Given the description of an element on the screen output the (x, y) to click on. 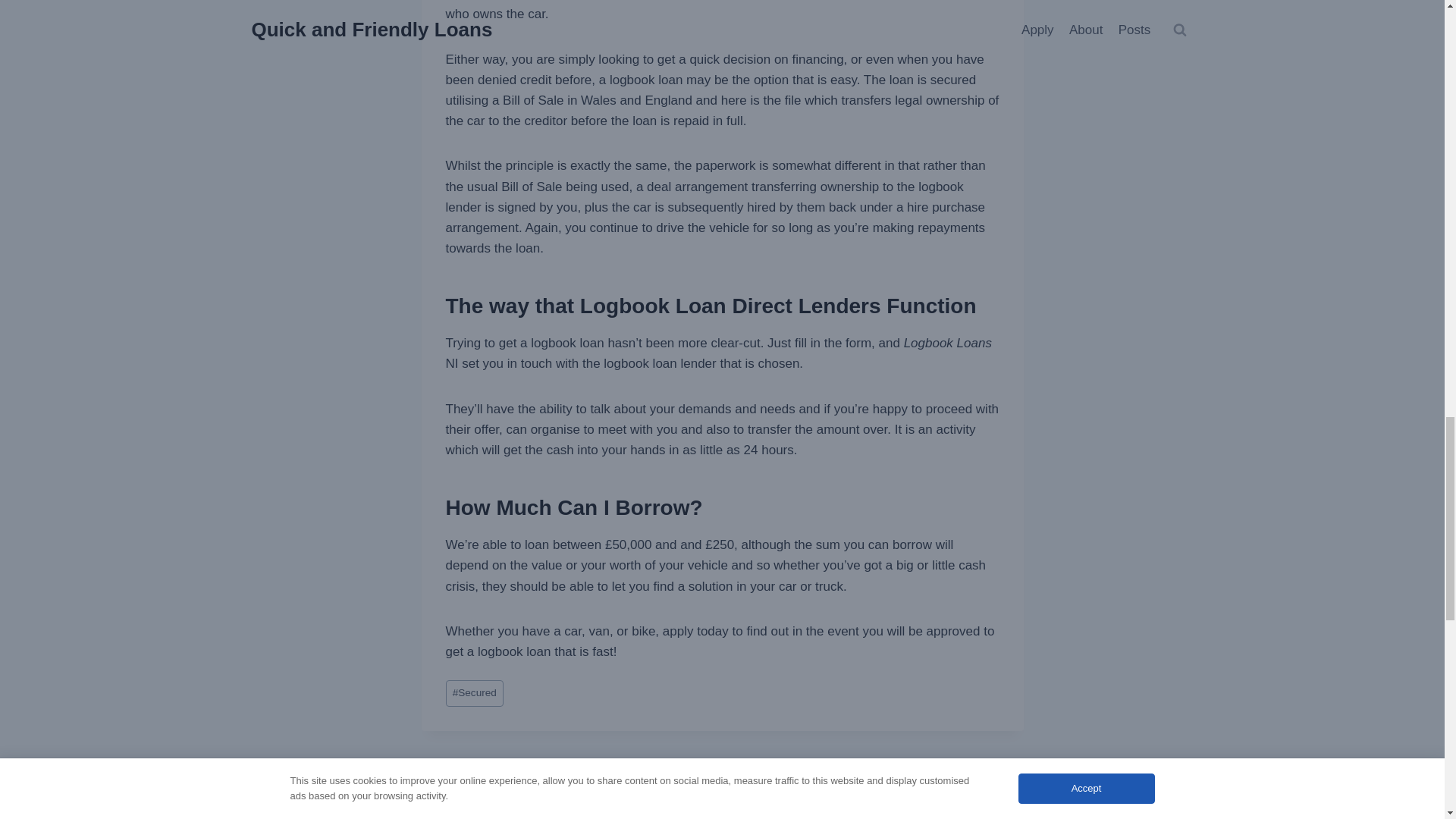
Secured (872, 786)
